Given the description of an element on the screen output the (x, y) to click on. 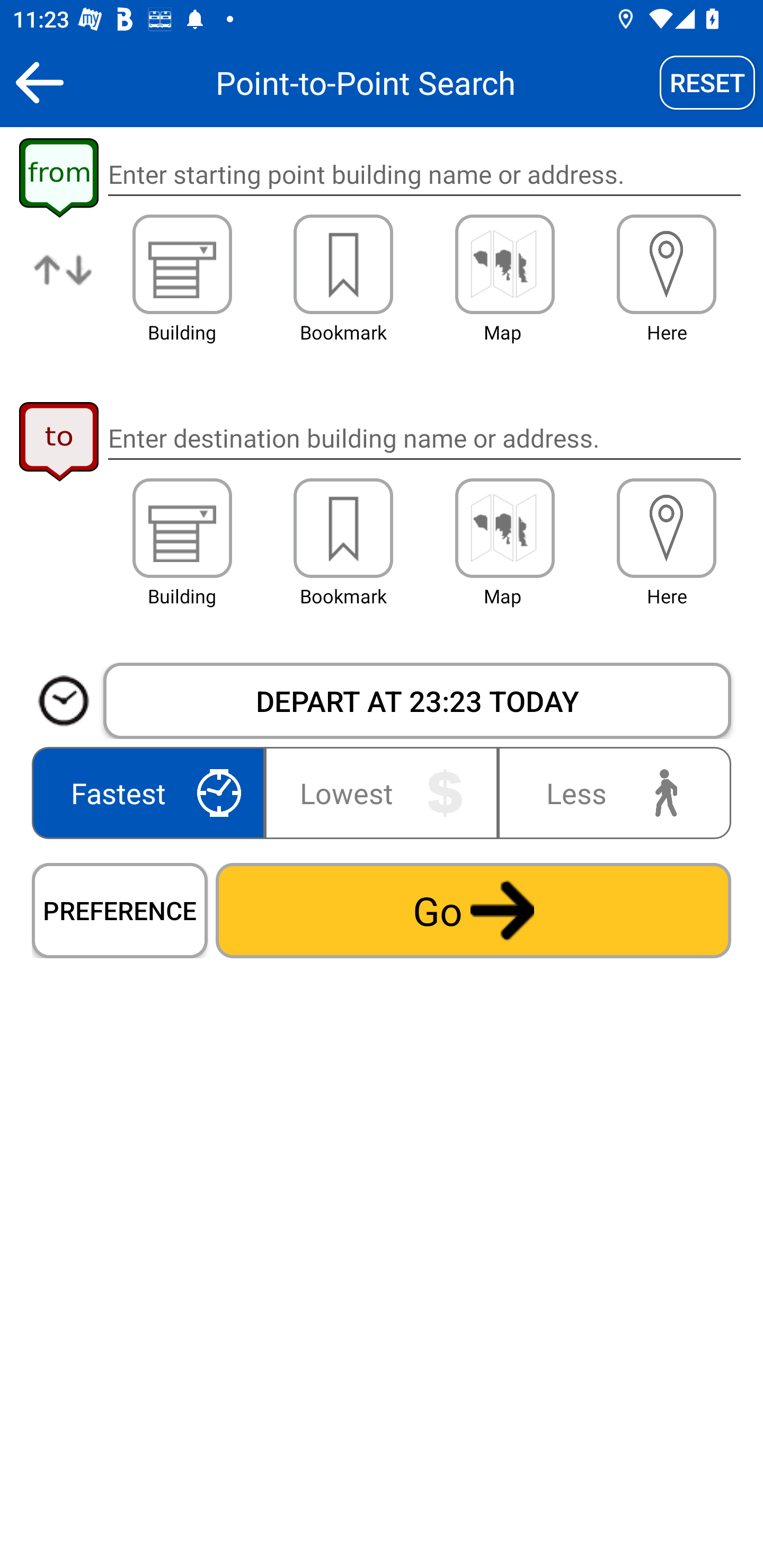
Back (39, 82)
RESET Reset (707, 81)
Enter starting point building name or address. (423, 174)
Building (181, 263)
Bookmarks (342, 263)
Select location on map (504, 263)
Here (666, 263)
Swap origin and destination (63, 284)
Enter destination building name or address. (423, 437)
Building (181, 528)
Bookmarks (342, 528)
Select location on map (504, 528)
Here (666, 528)
Lowest (381, 792)
Fastest selected (151, 792)
Less (610, 792)
PREFERENCE Preference (119, 910)
Go (472, 910)
